Given the description of an element on the screen output the (x, y) to click on. 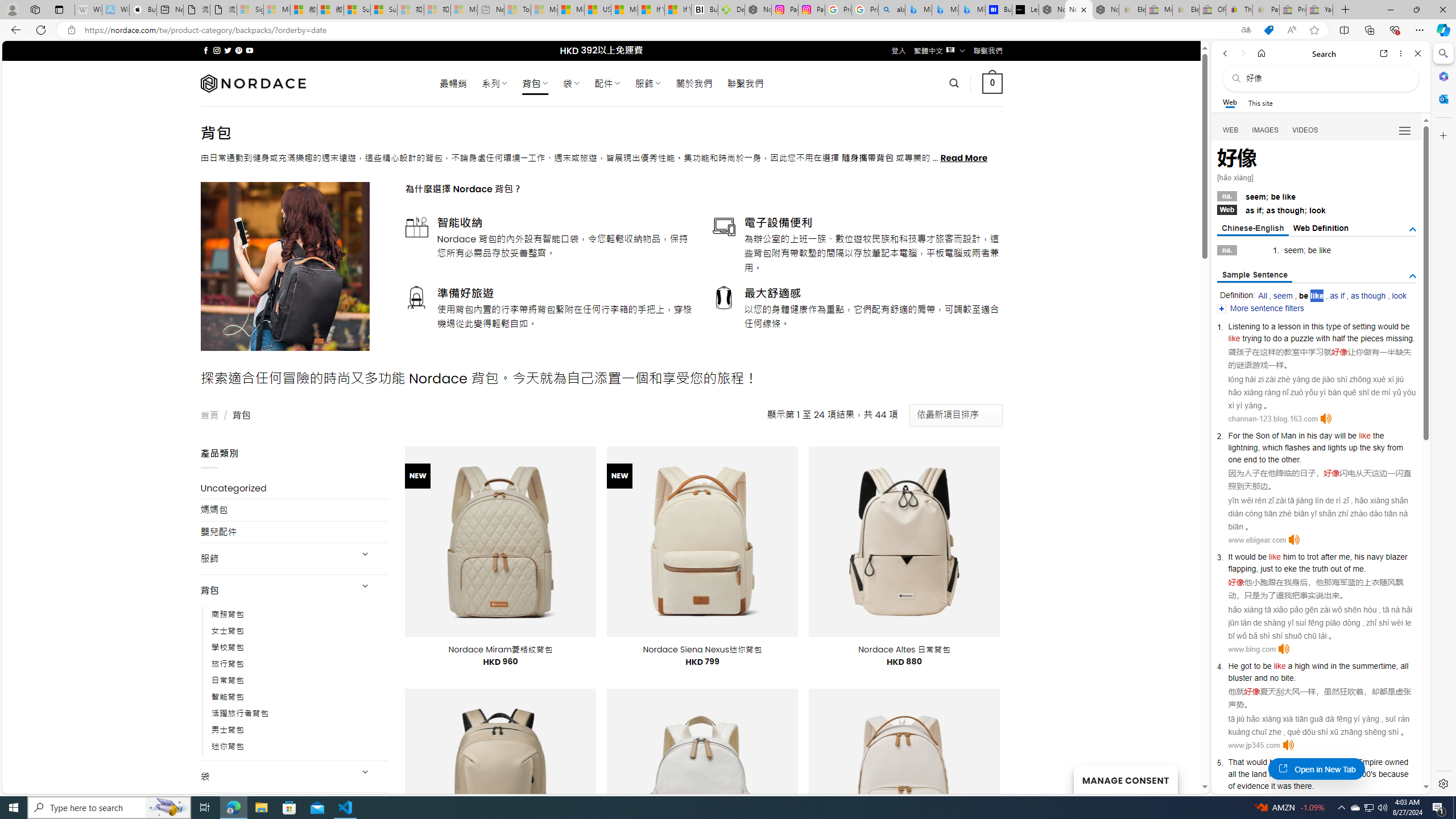
WEB (1231, 130)
a (1289, 665)
Empire (1369, 761)
